Given the description of an element on the screen output the (x, y) to click on. 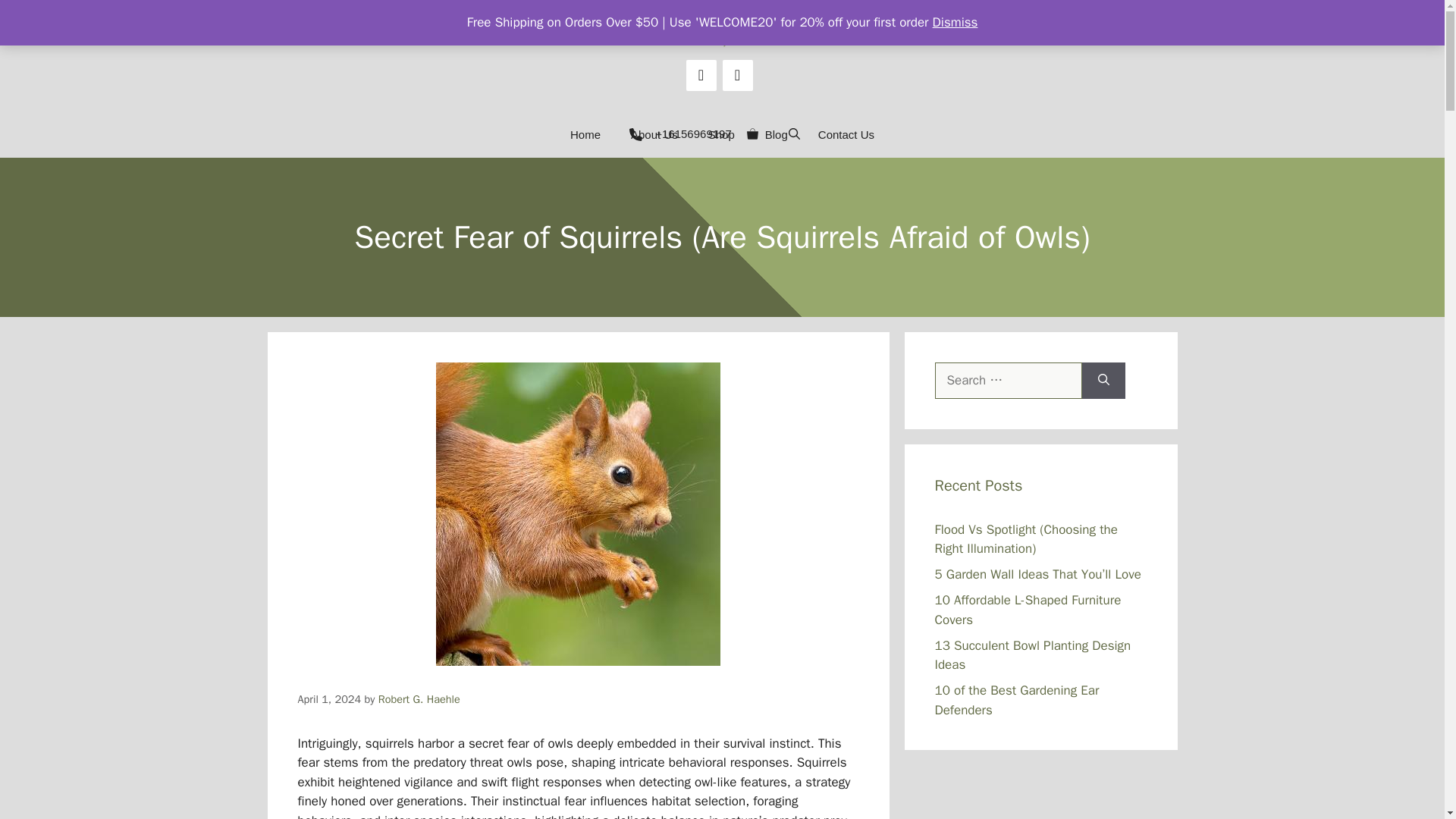
Shop (721, 135)
About Us (654, 135)
Robert G. Haehle (419, 698)
Home (584, 135)
View all posts by Robert G. Haehle (419, 698)
Contact Us (846, 135)
13 Succulent Bowl Planting Design Ideas (1032, 654)
10 Affordable L-Shaped Furniture Covers (1027, 610)
View your shopping cart (752, 135)
Search for: (1007, 380)
Instagram (737, 74)
10 of the Best Gardening Ear Defenders (1016, 700)
Blog (776, 135)
Facebook (700, 74)
